Given the description of an element on the screen output the (x, y) to click on. 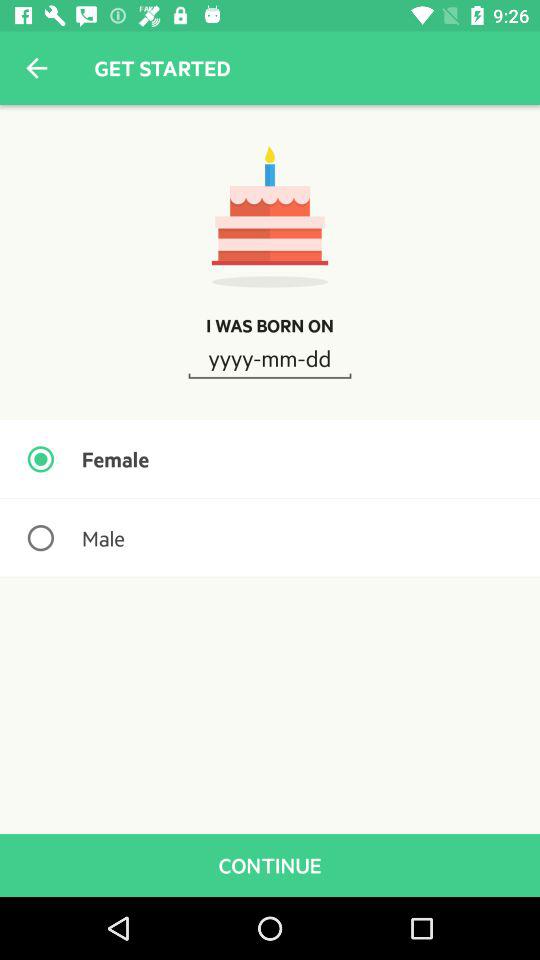
click the male item (270, 537)
